Given the description of an element on the screen output the (x, y) to click on. 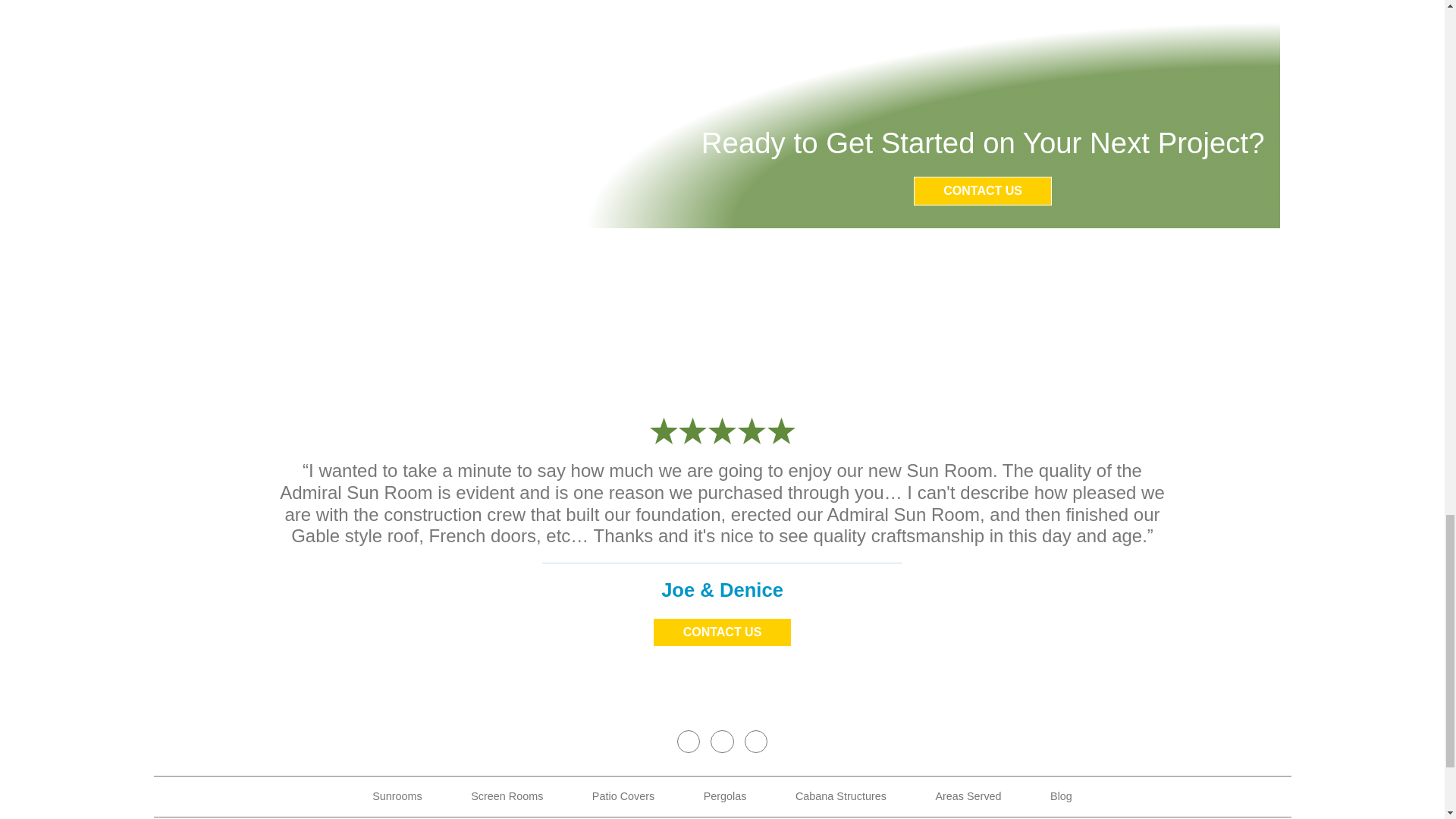
Sunrooms (397, 795)
Facebook (688, 741)
CONTACT US (721, 632)
CONTACT US (982, 190)
YouTube (755, 741)
Patio Covers (622, 795)
Twitter (721, 741)
Screen Rooms (507, 795)
Pergolas (725, 795)
